Given the description of an element on the screen output the (x, y) to click on. 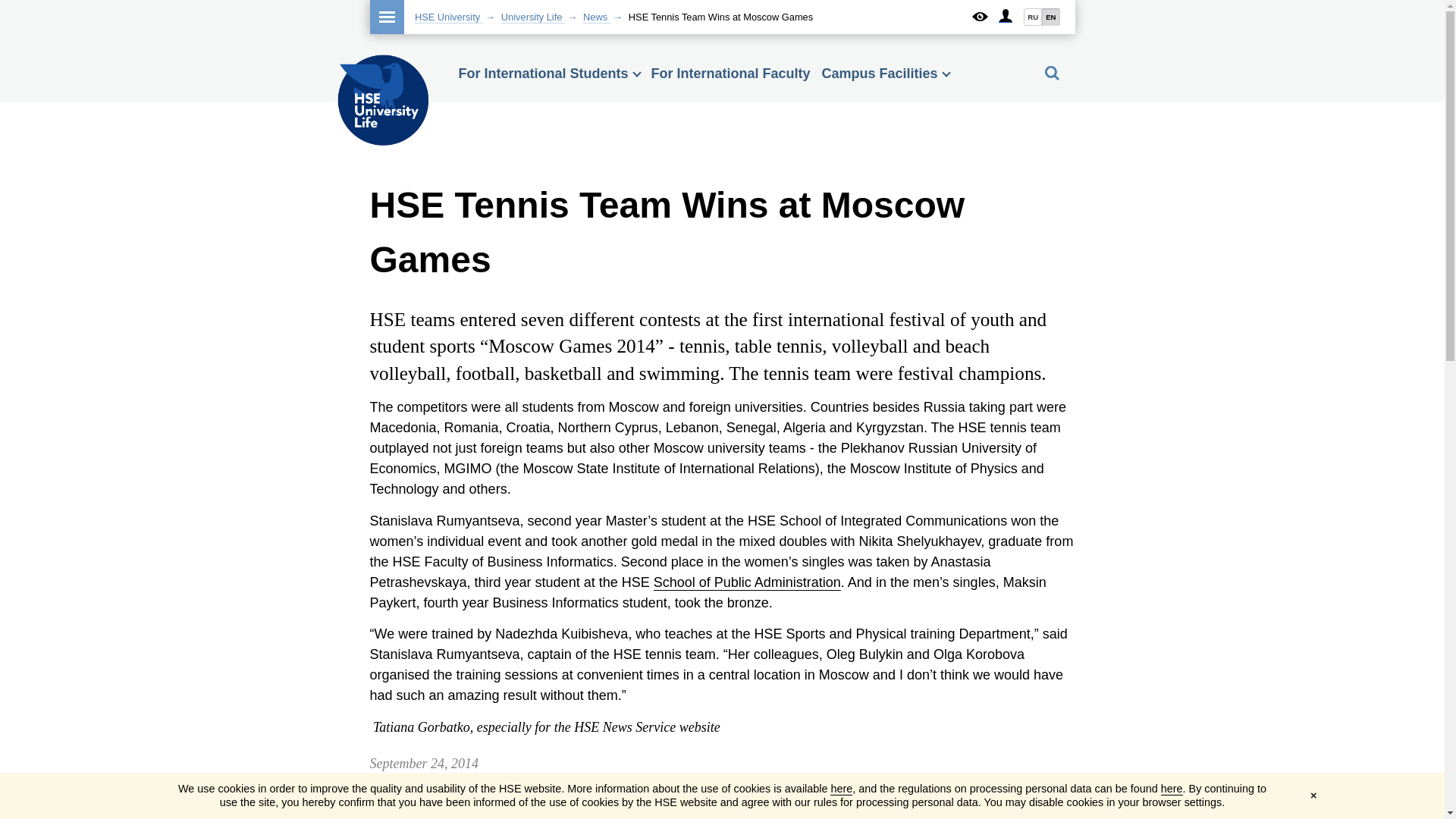
News (596, 17)
University Life (532, 17)
HSE University (448, 17)
sports (510, 802)
RU (1033, 17)
here (840, 788)
here (1171, 788)
tennis (552, 802)
For International Faculty (730, 73)
EN (1050, 17)
